Given the description of an element on the screen output the (x, y) to click on. 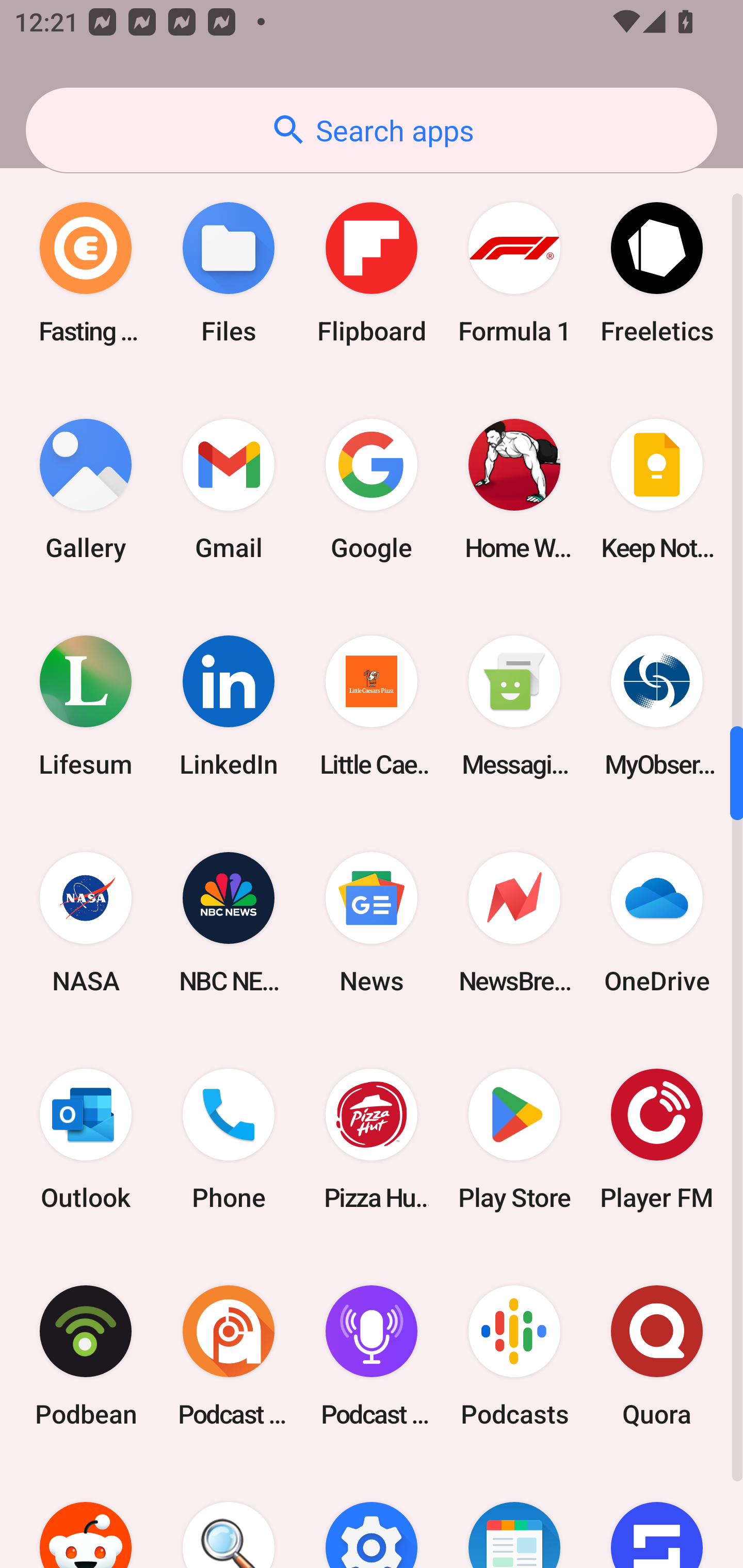
  Search apps (371, 130)
Fasting Coach (85, 272)
Files (228, 272)
Flipboard (371, 272)
Formula 1 (514, 272)
Freeletics (656, 272)
Gallery (85, 489)
Gmail (228, 489)
Google (371, 489)
Home Workout (514, 489)
Keep Notes (656, 489)
Lifesum (85, 705)
LinkedIn (228, 705)
Little Caesars Pizza (371, 705)
Messaging (514, 705)
MyObservatory (656, 705)
NASA (85, 922)
NBC NEWS (228, 922)
News (371, 922)
NewsBreak (514, 922)
OneDrive (656, 922)
Outlook (85, 1139)
Phone (228, 1139)
Pizza Hut HK & Macau (371, 1139)
Play Store (514, 1139)
Player FM (656, 1139)
Podbean (85, 1356)
Podcast Addict (228, 1356)
Podcast Player (371, 1356)
Podcasts (514, 1356)
Quora (656, 1356)
Reddit (85, 1516)
Search (228, 1516)
Settings (371, 1516)
SmartNews (514, 1516)
Sofascore (656, 1516)
